Given the description of an element on the screen output the (x, y) to click on. 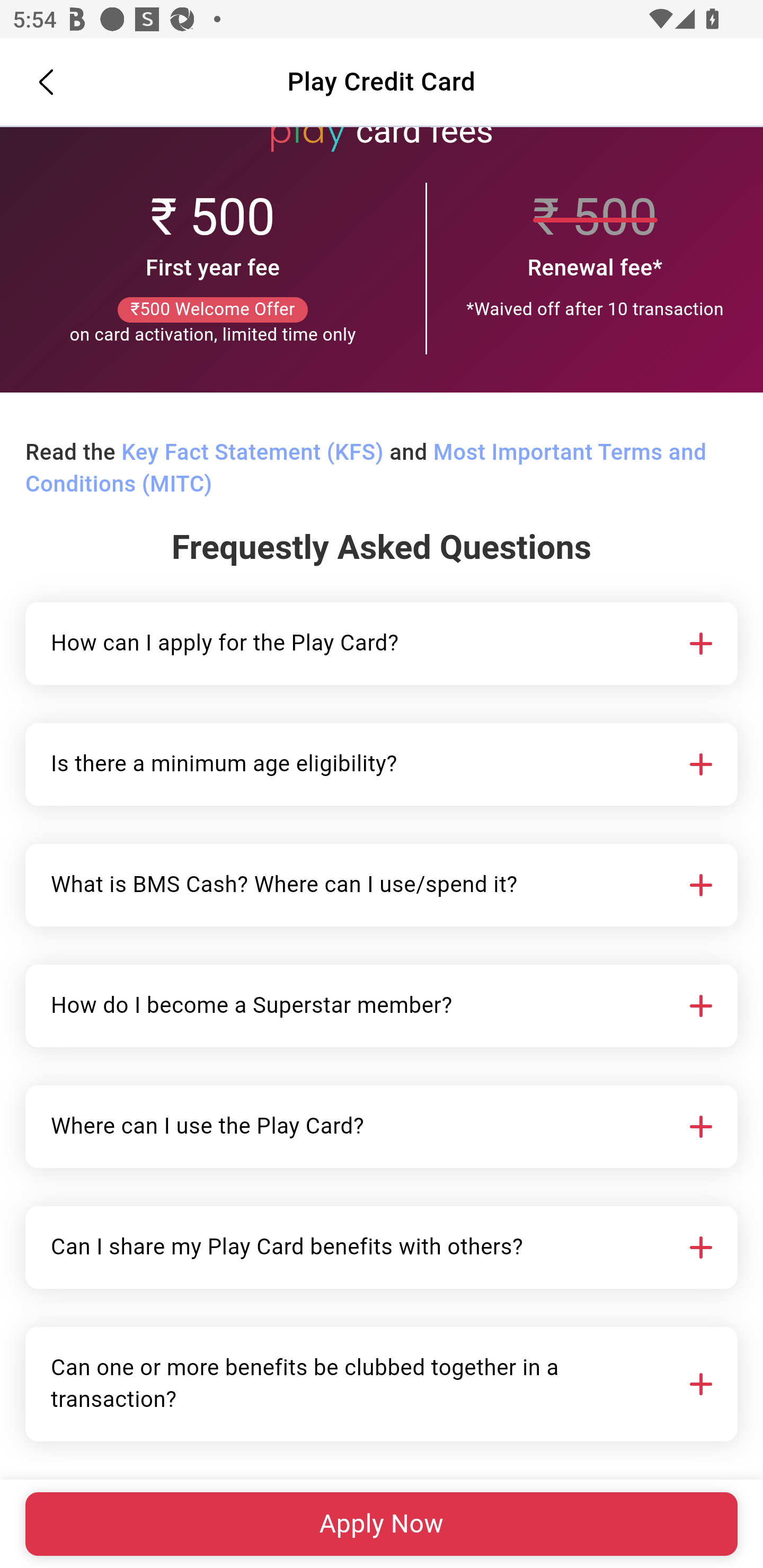
Most Important Terms and Conditions (MITC) (366, 469)
Key Fact Statement (KFS) (252, 453)
